Given the description of an element on the screen output the (x, y) to click on. 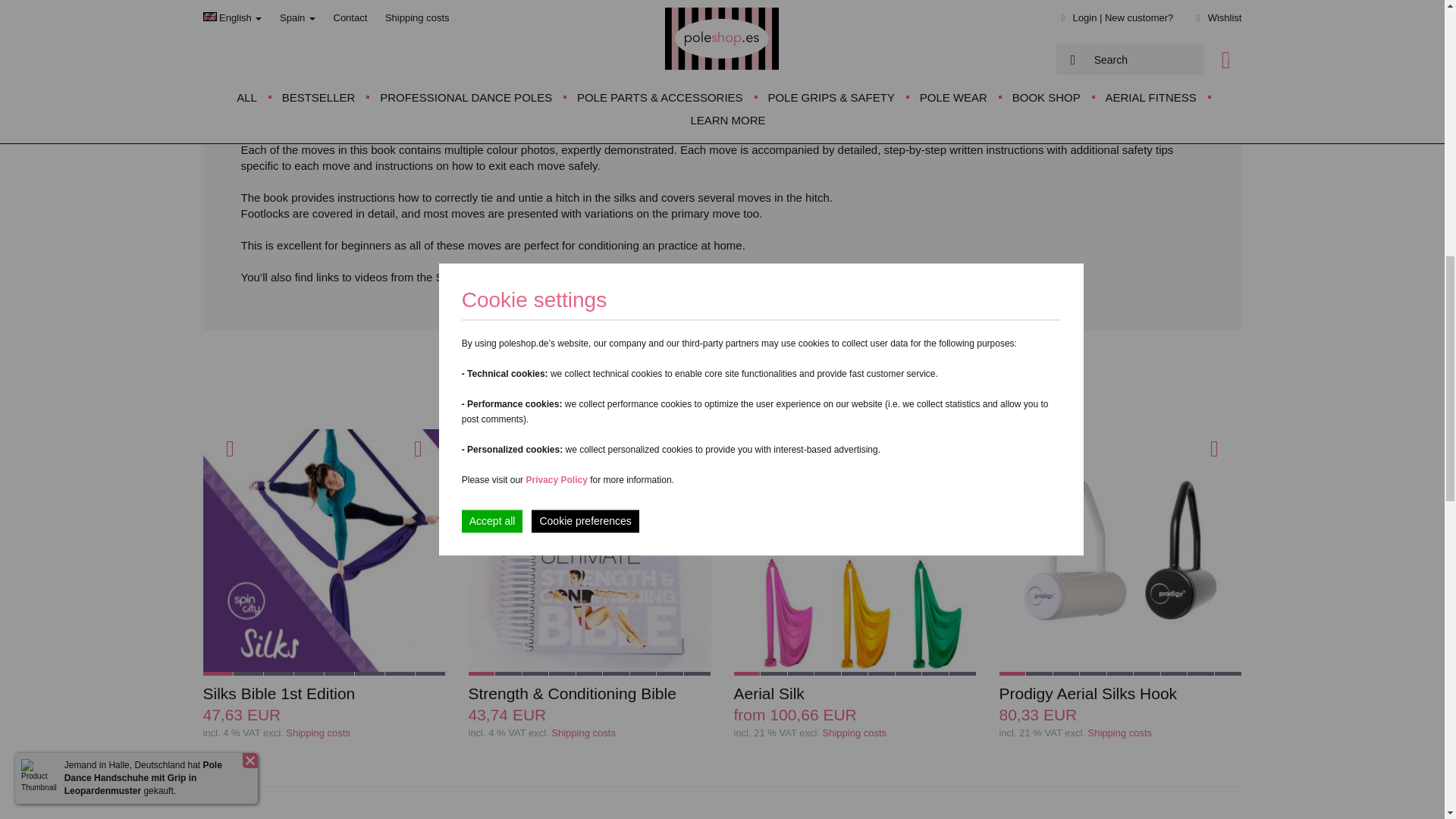
Information (854, 733)
Information (317, 733)
Information (583, 733)
Information (1120, 733)
